Given the description of an element on the screen output the (x, y) to click on. 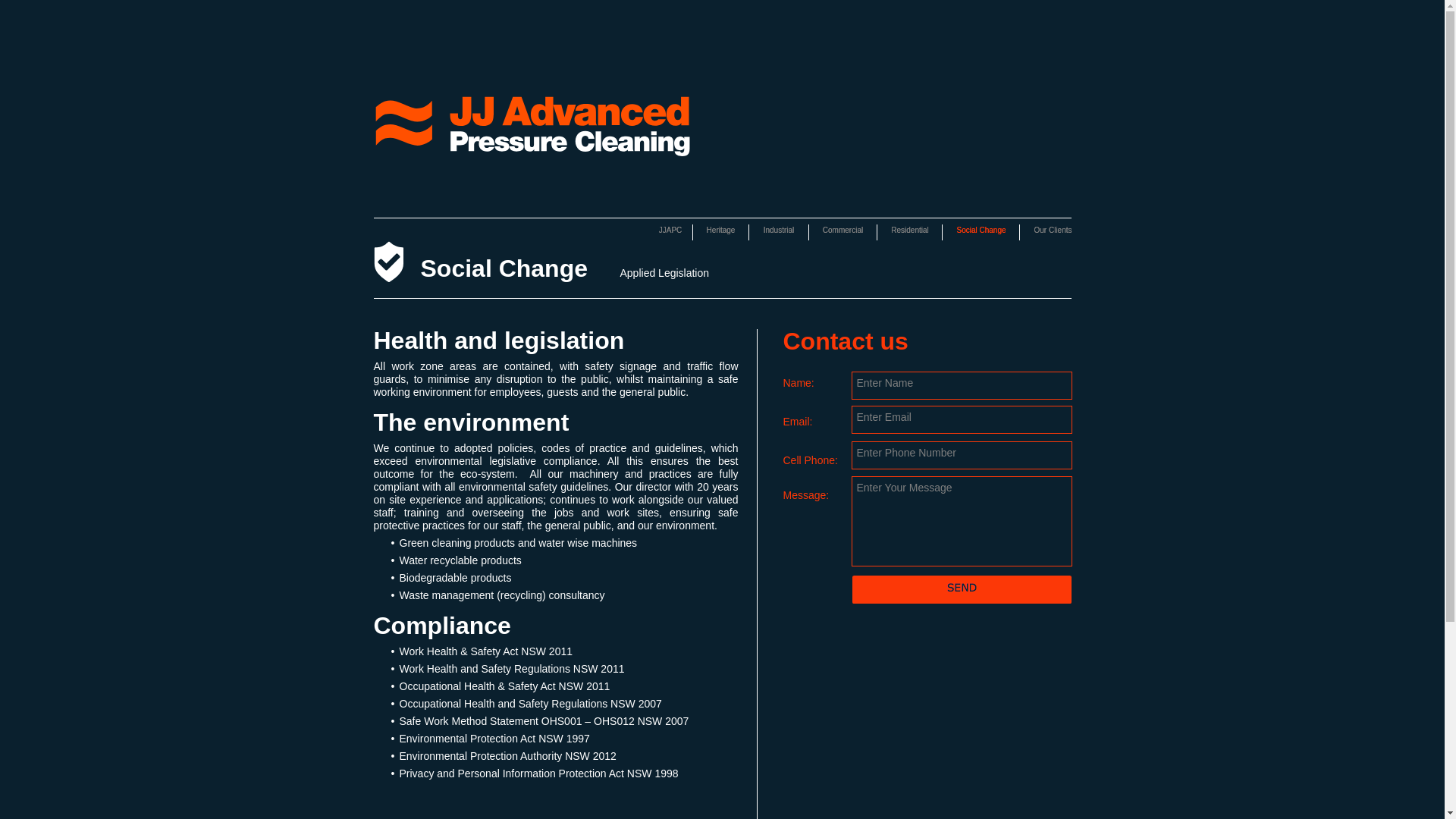
Applied Legislation Element type: text (704, 275)
Heritage Element type: text (721, 232)
Social Change Element type: hover (388, 261)
JJAPC Element type: text (670, 232)
Residential Element type: text (909, 232)
Commercial Element type: text (842, 232)
Social Change Element type: text (981, 232)
Industrial Element type: text (779, 232)
Our Clients Element type: text (1052, 232)
